Given the description of an element on the screen output the (x, y) to click on. 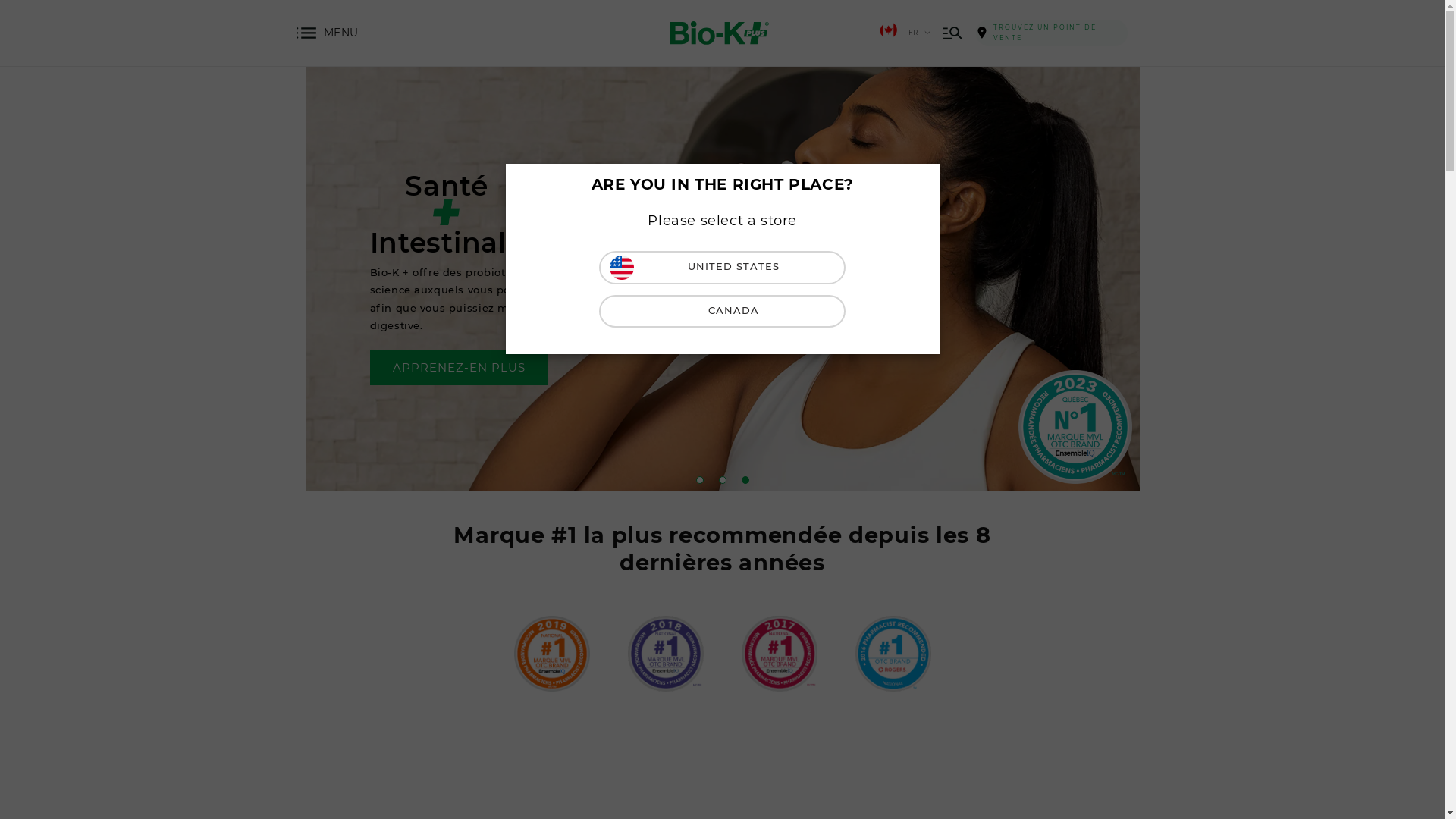
APPRENEZ-EN PLUS Element type: text (591, 367)
UNITED STATES Element type: text (722, 267)
TROUVEZ UN POINT DE VENTE Element type: text (1051, 32)
